Given the description of an element on the screen output the (x, y) to click on. 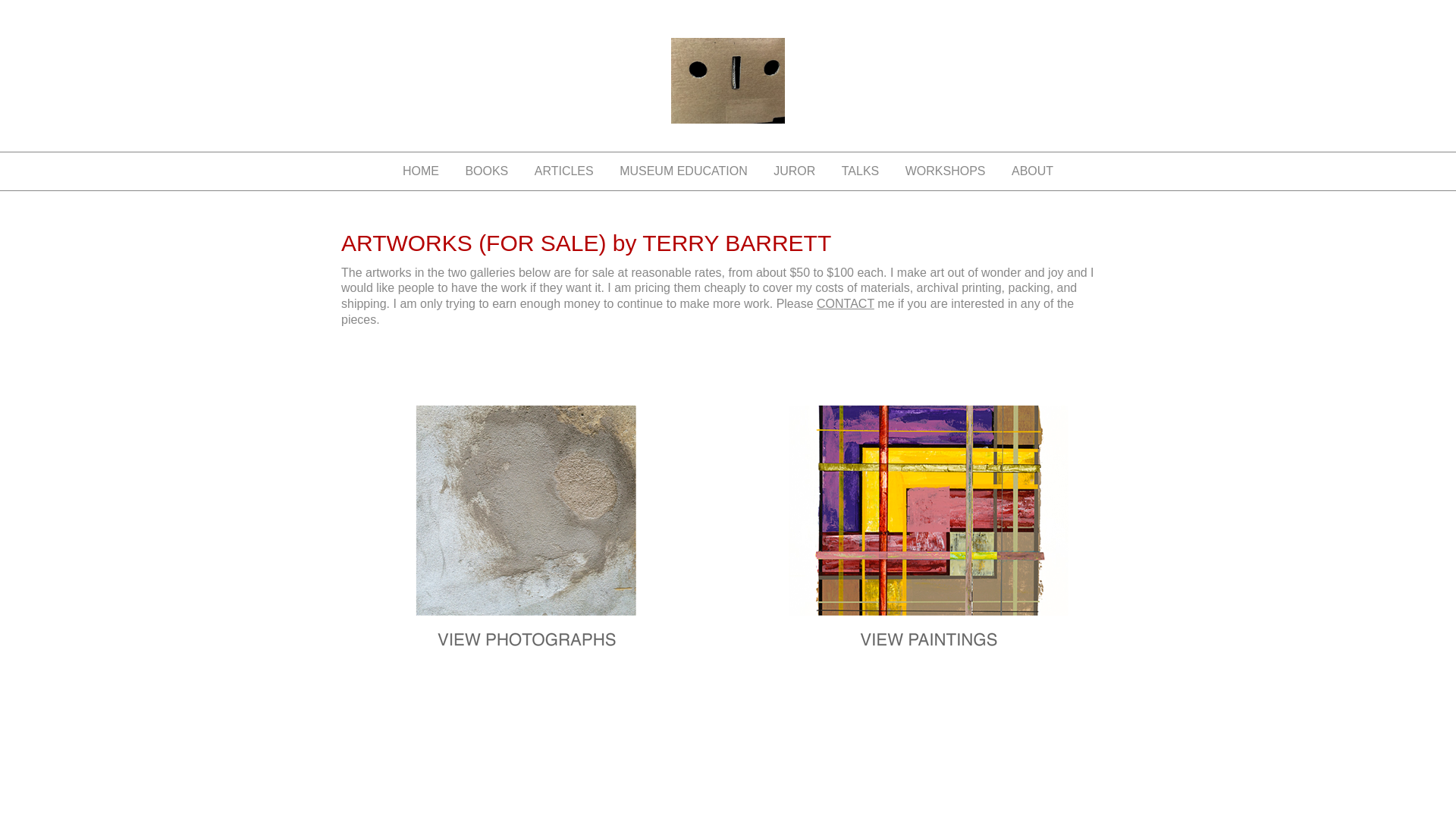
ARTICLES (563, 171)
Log in (923, 714)
HOME (420, 171)
Dynamik-Gen (658, 714)
View-Photographs--NEW (526, 513)
View-Paintings-Gallery--NEW (928, 513)
Terry Barrett (727, 94)
WORKSHOPS (945, 171)
WordPress (865, 714)
JUROR (794, 171)
TALKS (860, 171)
Genesis Framework (772, 714)
MUSEUM EDUCATION (683, 171)
BOOKS (485, 171)
ABOUT (1032, 171)
